Given the description of an element on the screen output the (x, y) to click on. 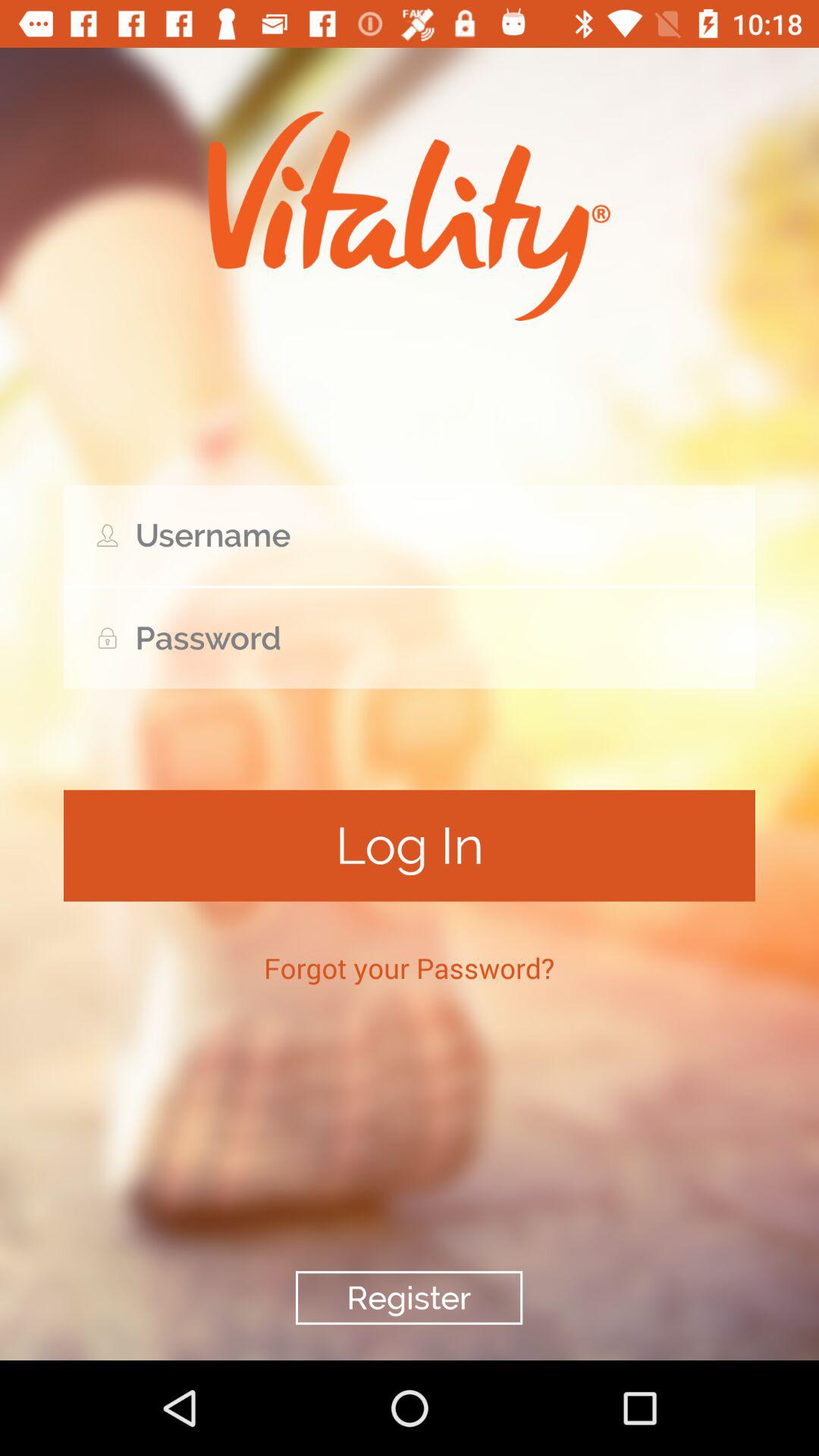
launch log in (409, 845)
